Given the description of an element on the screen output the (x, y) to click on. 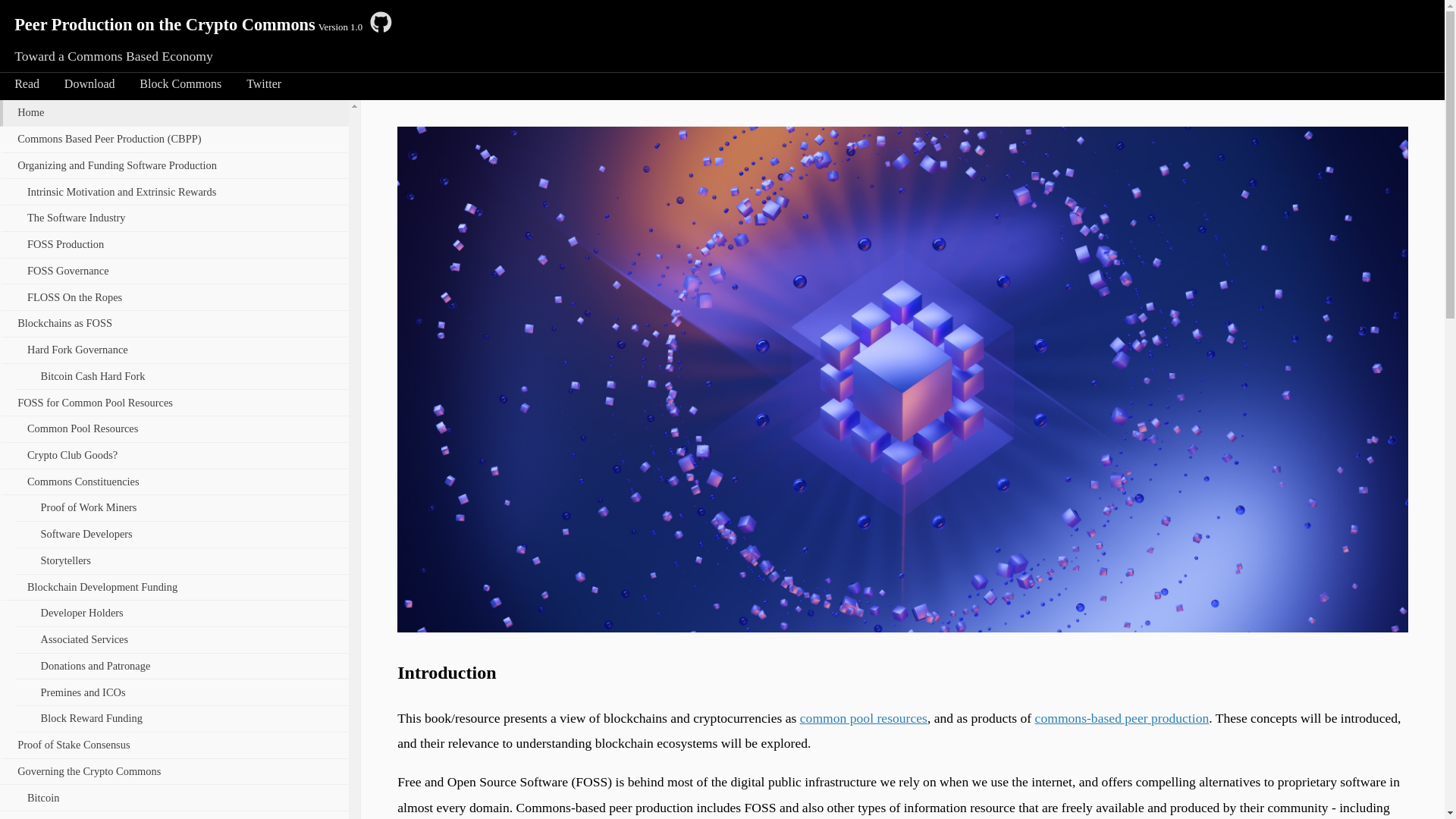
Associated Services Element type: text (181, 640)
Proof of Work Miners Element type: text (181, 508)
Blockchain Development Funding Element type: text (174, 587)
Download Element type: text (89, 83)
common pool resources Element type: text (863, 717)
Twitter Element type: text (263, 83)
Bitcoin Element type: text (174, 797)
Commons Based Peer Production (CBPP) Element type: text (174, 139)
FOSS Production Element type: text (174, 245)
Software Developers Element type: text (181, 534)
Organizing and Funding Software Production Element type: text (174, 166)
Common Pool Resources Element type: text (174, 429)
Home Element type: text (174, 113)
FOSS Governance Element type: text (174, 271)
Read Element type: text (26, 83)
FLOSS On the Ropes Element type: text (174, 297)
Developer Holders Element type: text (181, 613)
commons-based peer production Element type: text (1122, 717)
Premines and ICOs Element type: text (181, 692)
The Software Industry Element type: text (174, 218)
FOSS for Common Pool Resources Element type: text (174, 402)
Intrinsic Motivation and Extrinsic Rewards Element type: text (174, 191)
Governing the Crypto Commons Element type: text (174, 772)
Commons Constituencies Element type: text (174, 482)
Crypto Club Goods? Element type: text (174, 455)
Proof of Stake Consensus Element type: text (174, 745)
Donations and Patronage Element type: text (181, 666)
Block Reward Funding Element type: text (181, 719)
Hard Fork Governance Element type: text (174, 350)
Blockchains as FOSS Element type: text (174, 323)
Bitcoin Cash Hard Fork Element type: text (181, 377)
Storytellers Element type: text (181, 561)
Block Commons Element type: text (180, 83)
